Given the description of an element on the screen output the (x, y) to click on. 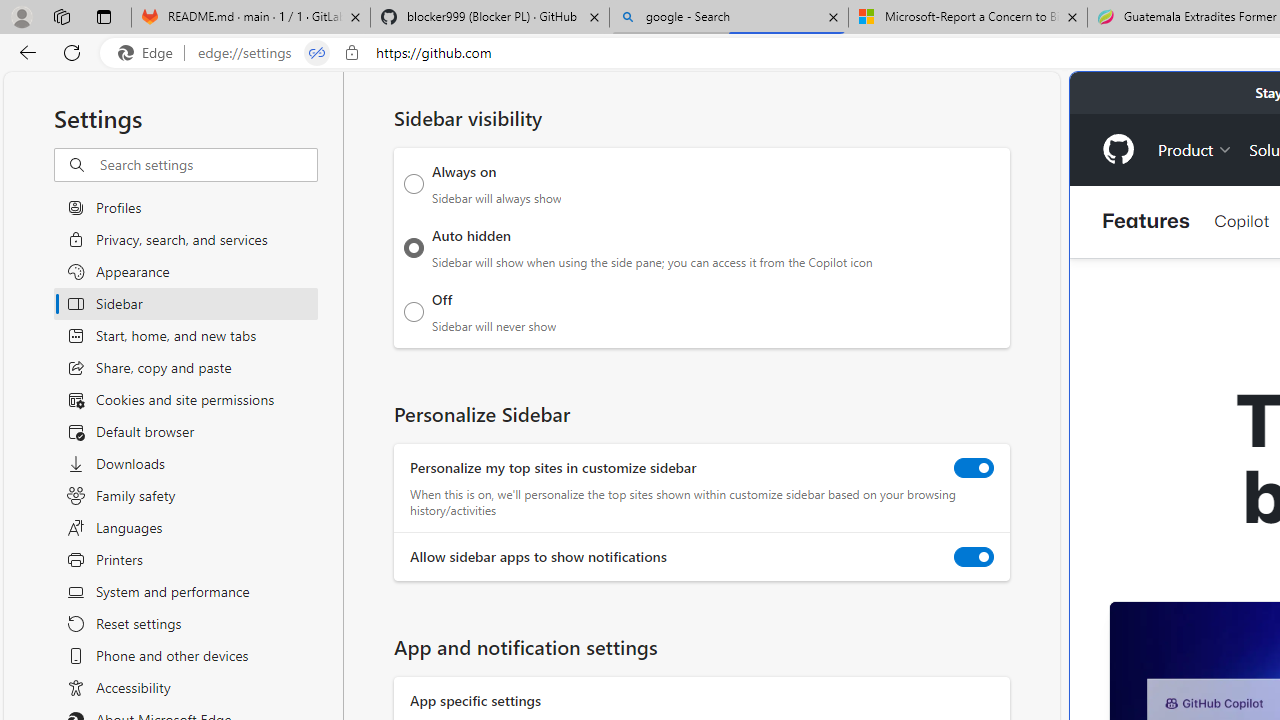
Personalize my top sites in customize sidebar (973, 467)
Features (1146, 221)
Product (1195, 148)
Off Sidebar will never show (413, 311)
Always on Sidebar will always show (413, 183)
Microsoft-Report a Concern to Bing (967, 17)
google - Search (729, 17)
Search settings (207, 165)
Homepage (1118, 149)
